Given the description of an element on the screen output the (x, y) to click on. 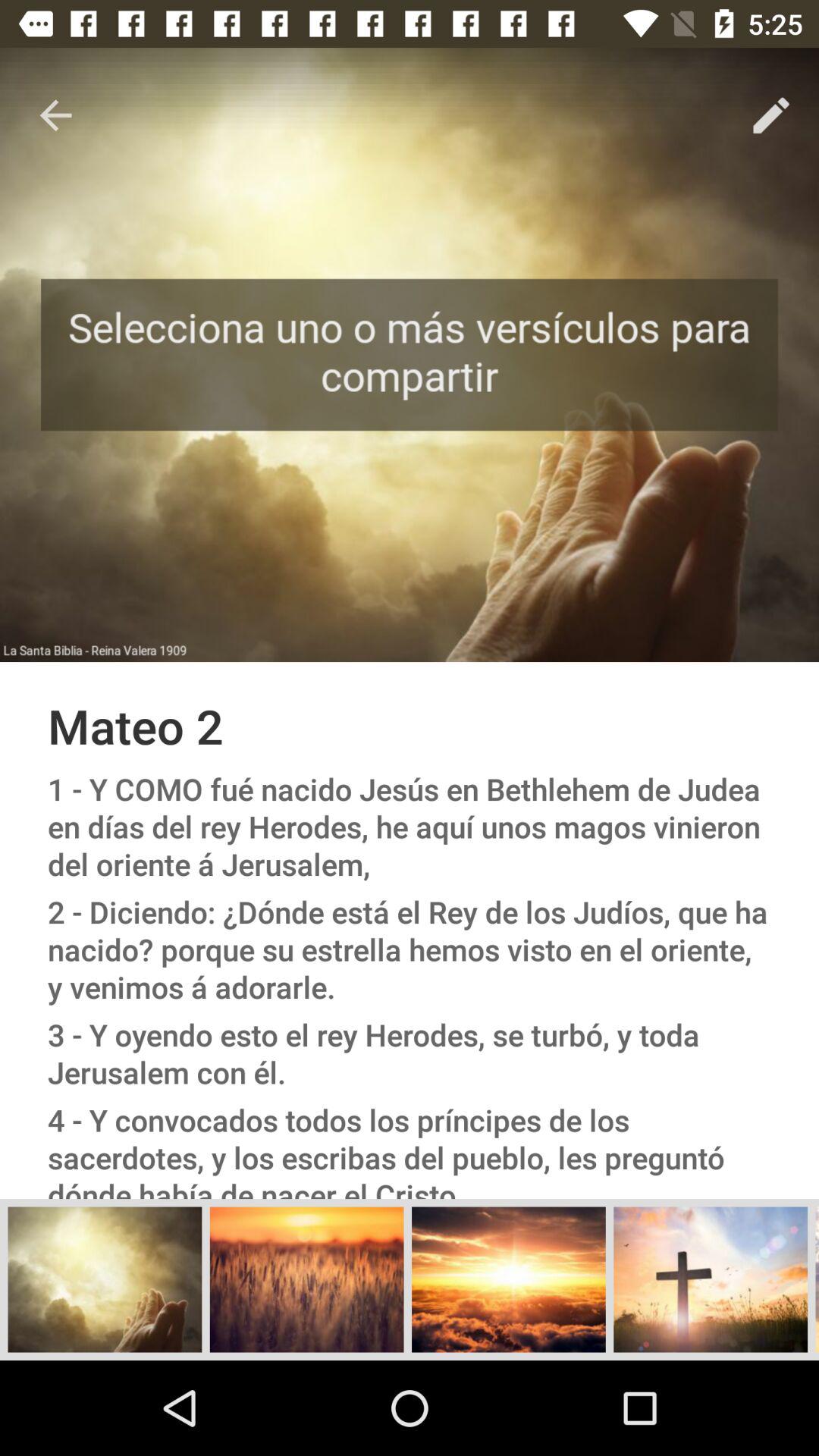
tap the mateo 2 icon (409, 725)
